Given the description of an element on the screen output the (x, y) to click on. 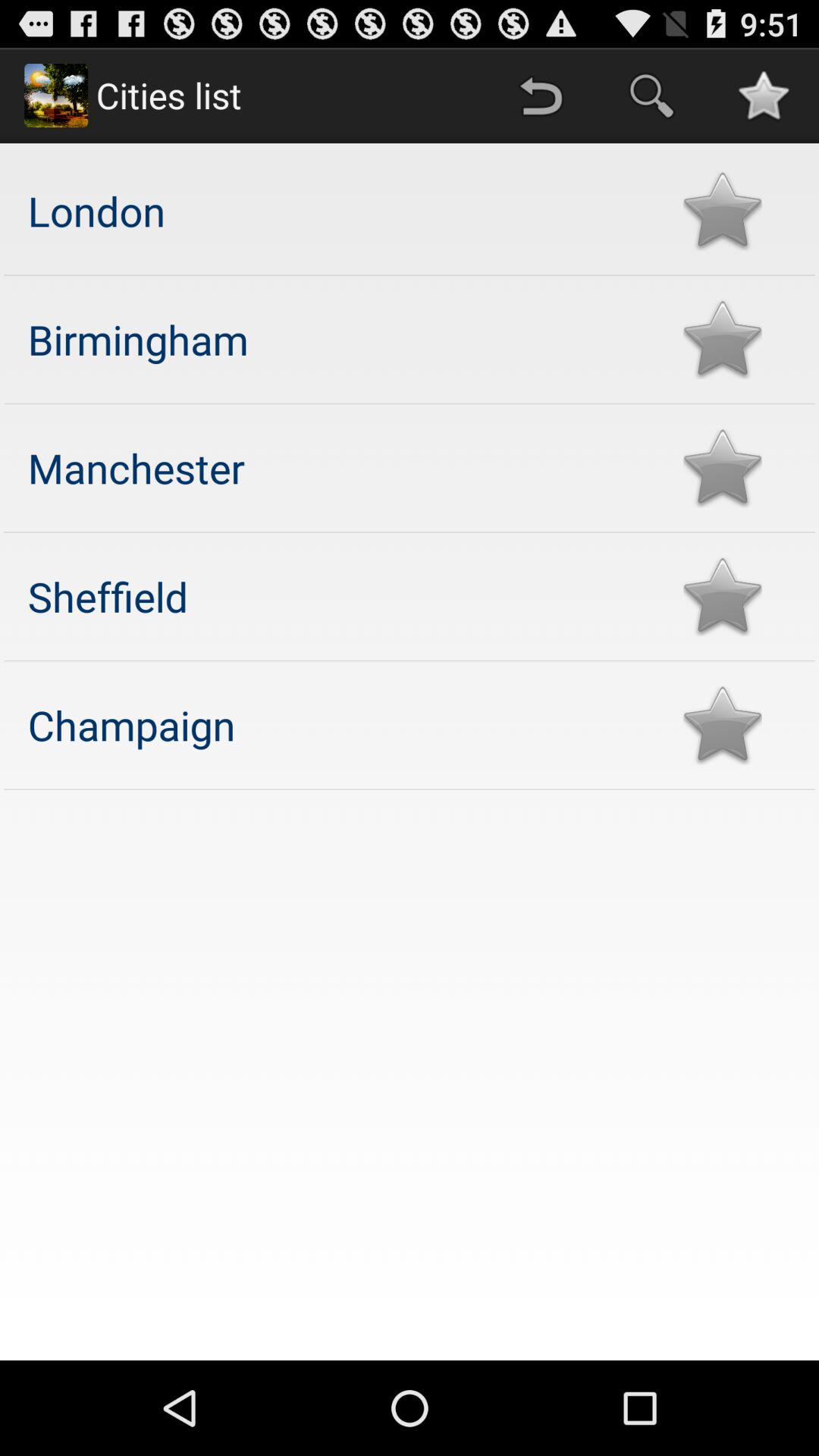
scroll to the london item (340, 210)
